Given the description of an element on the screen output the (x, y) to click on. 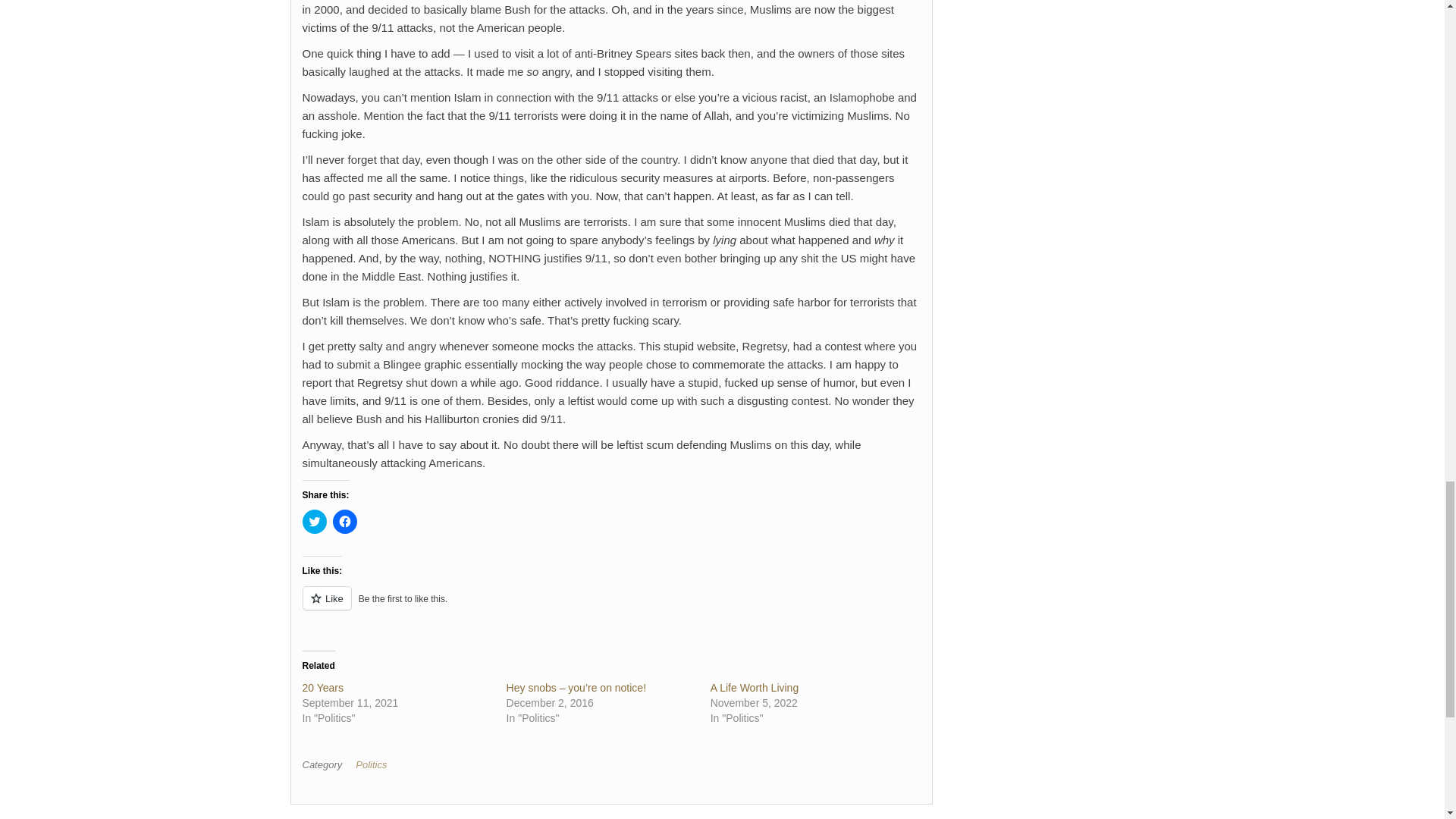
Click to share on Facebook (343, 521)
Click to share on Twitter (313, 521)
Politics (374, 764)
A Life Worth Living (753, 687)
Like or Reblog (610, 607)
A Life Worth Living (753, 687)
20 Years (322, 687)
20 Years (322, 687)
